Given the description of an element on the screen output the (x, y) to click on. 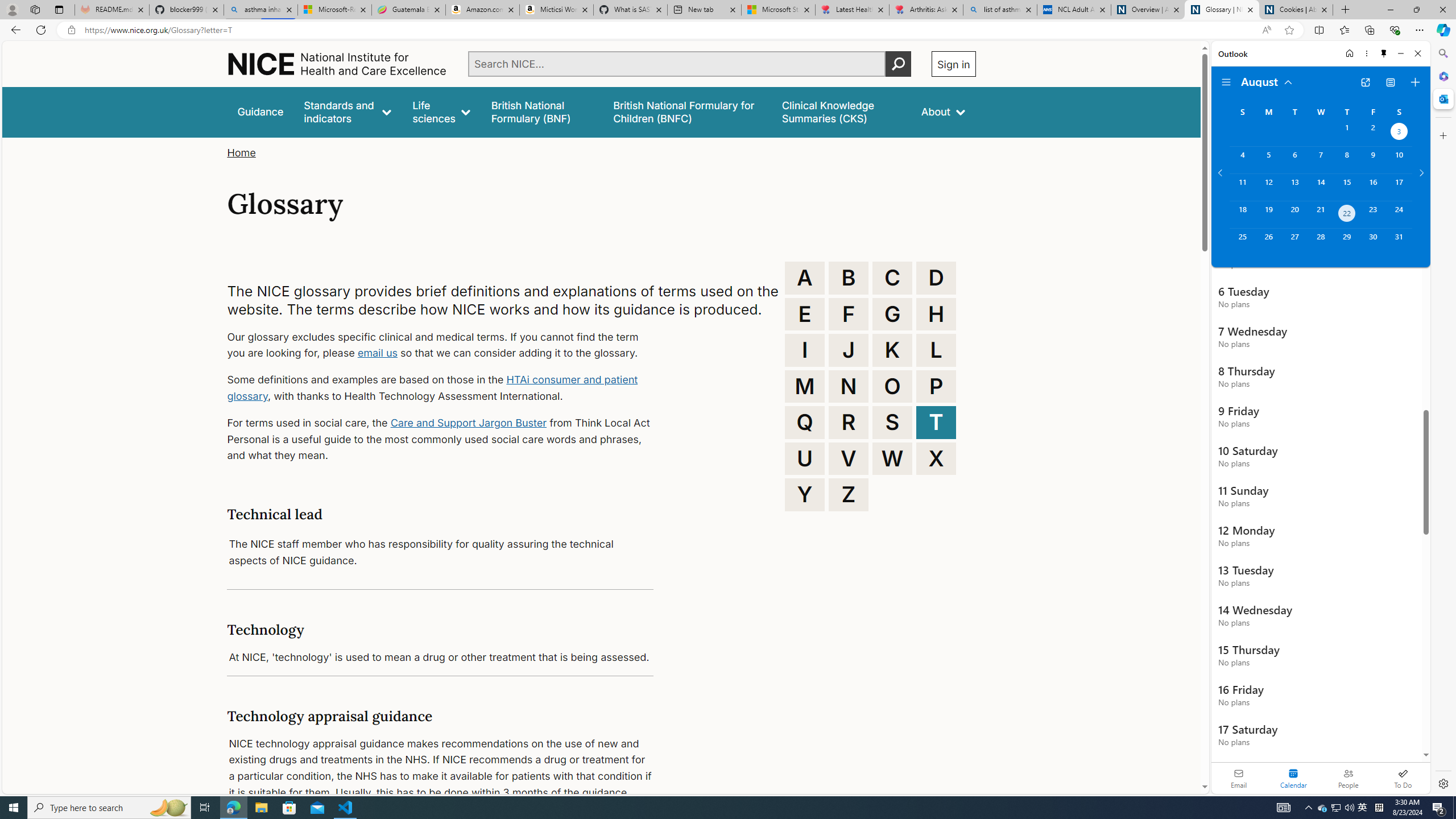
Arthritis: Ask Health Professionals (925, 9)
Thursday, August 29, 2024.  (1346, 241)
Q (804, 422)
Sunday, August 4, 2024.  (1242, 159)
E (804, 313)
British National Formulary for Children (BNFC) (686, 111)
S (892, 422)
Thursday, August 8, 2024.  (1346, 159)
X (935, 458)
M (804, 385)
